Given the description of an element on the screen output the (x, y) to click on. 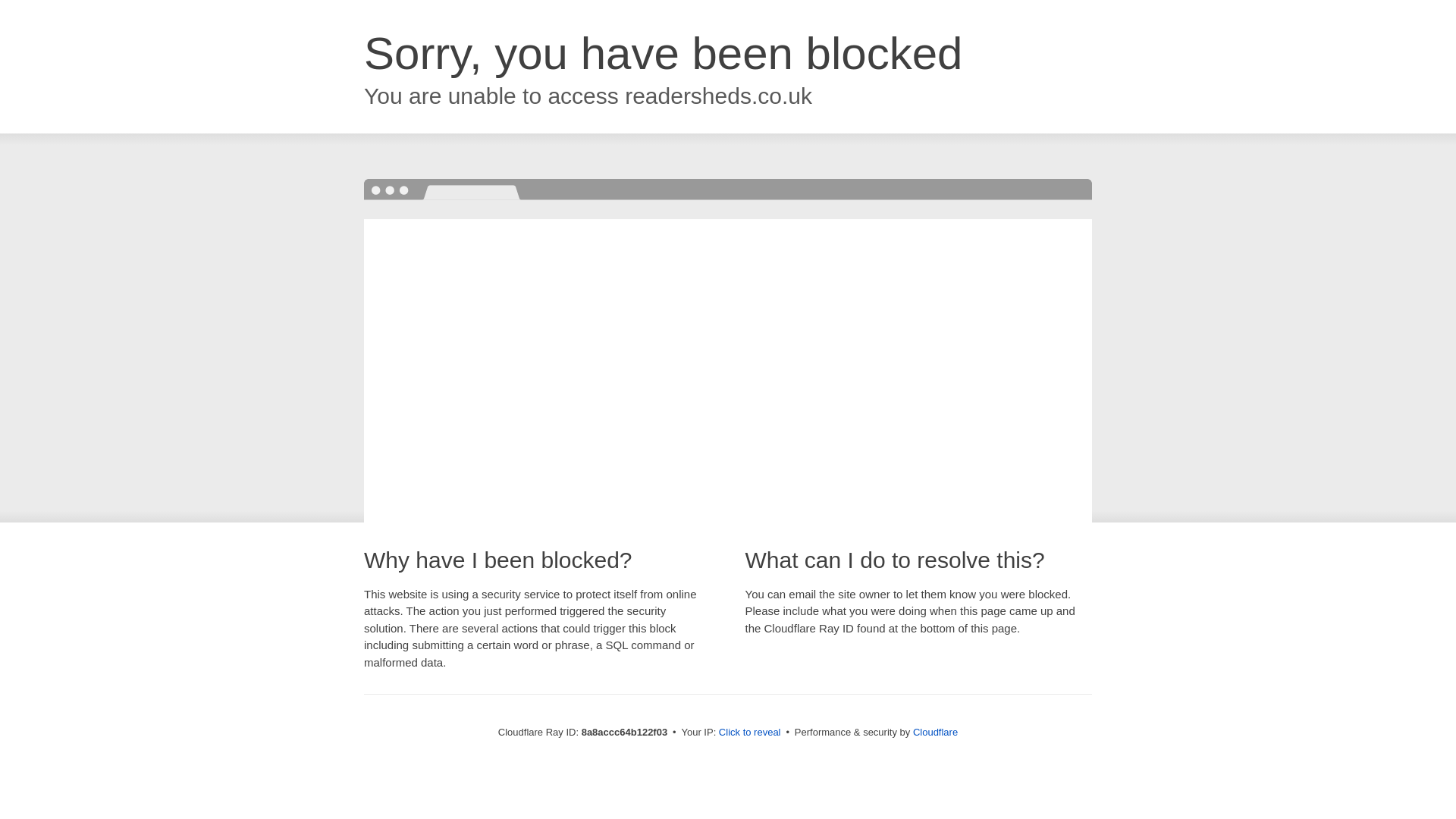
Cloudflare (935, 731)
Click to reveal (749, 732)
